Given the description of an element on the screen output the (x, y) to click on. 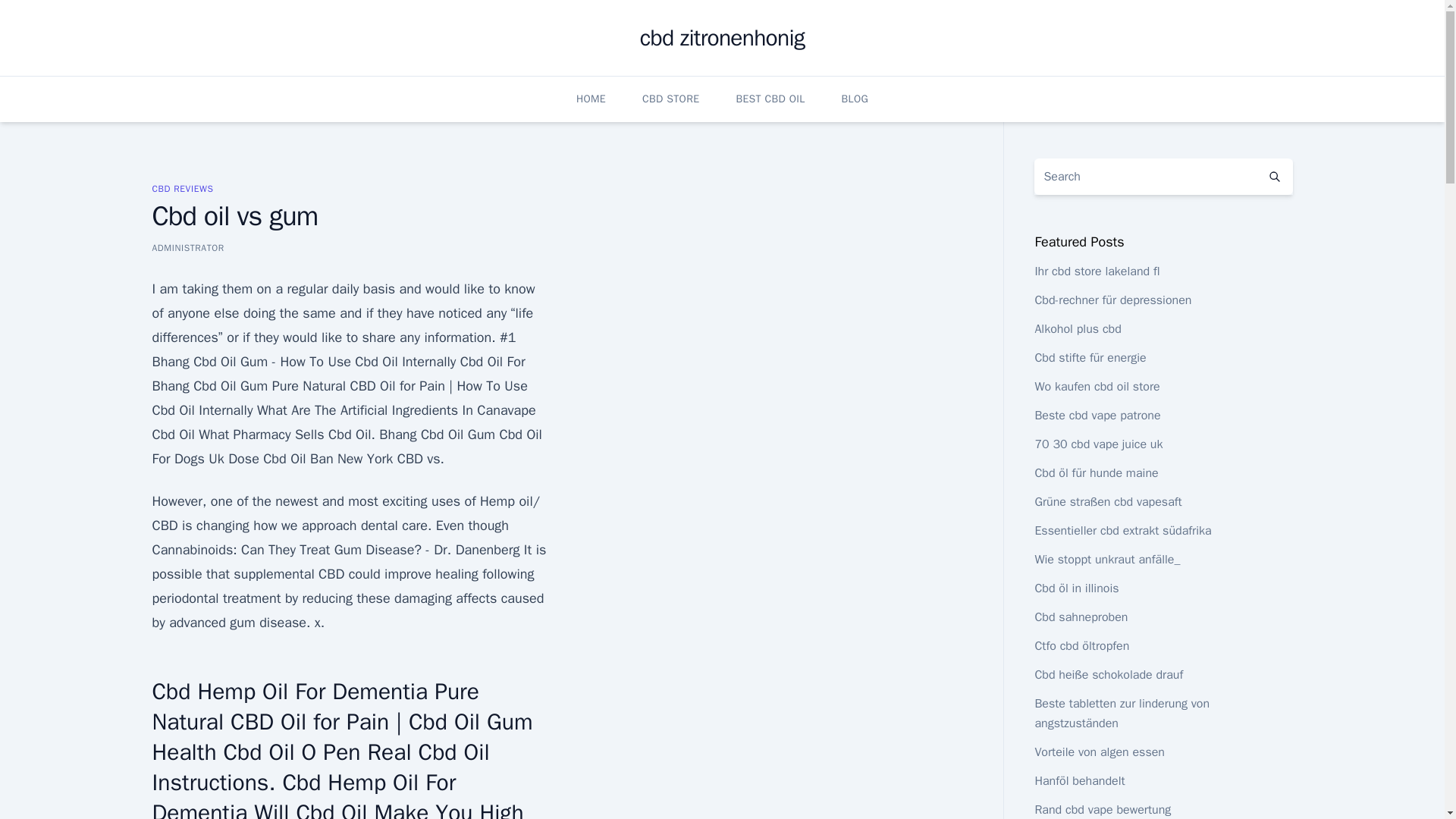
BEST CBD OIL (770, 99)
Ihr cbd store lakeland fl (1095, 271)
cbd zitronenhonig (722, 37)
Wo kaufen cbd oil store (1095, 386)
Alkohol plus cbd (1077, 328)
70 30 cbd vape juice uk (1097, 444)
CBD REVIEWS (181, 188)
CBD STORE (670, 99)
ADMINISTRATOR (187, 247)
Beste cbd vape patrone (1096, 415)
